Given the description of an element on the screen output the (x, y) to click on. 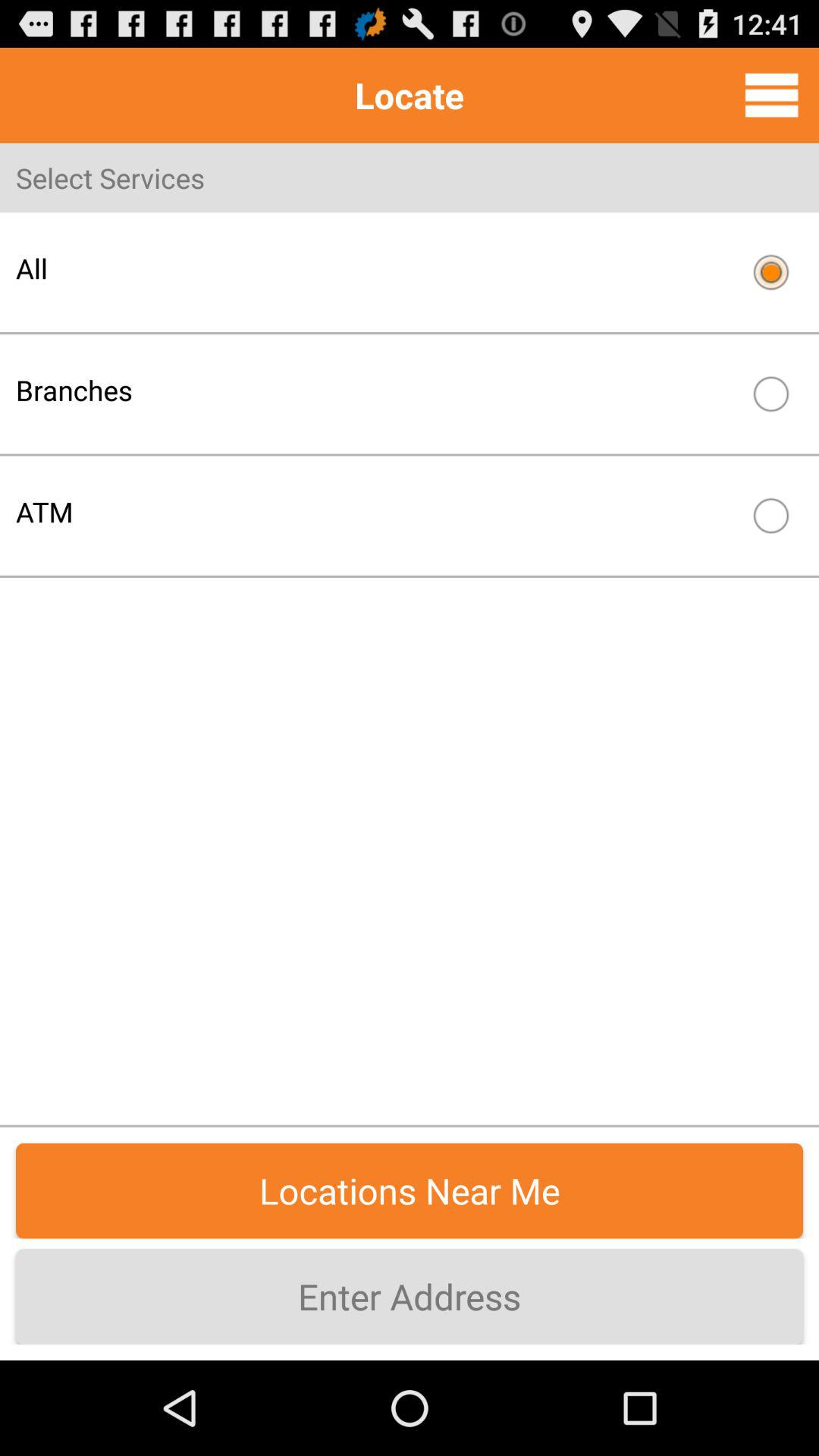
jump to the enter address (409, 1296)
